Given the description of an element on the screen output the (x, y) to click on. 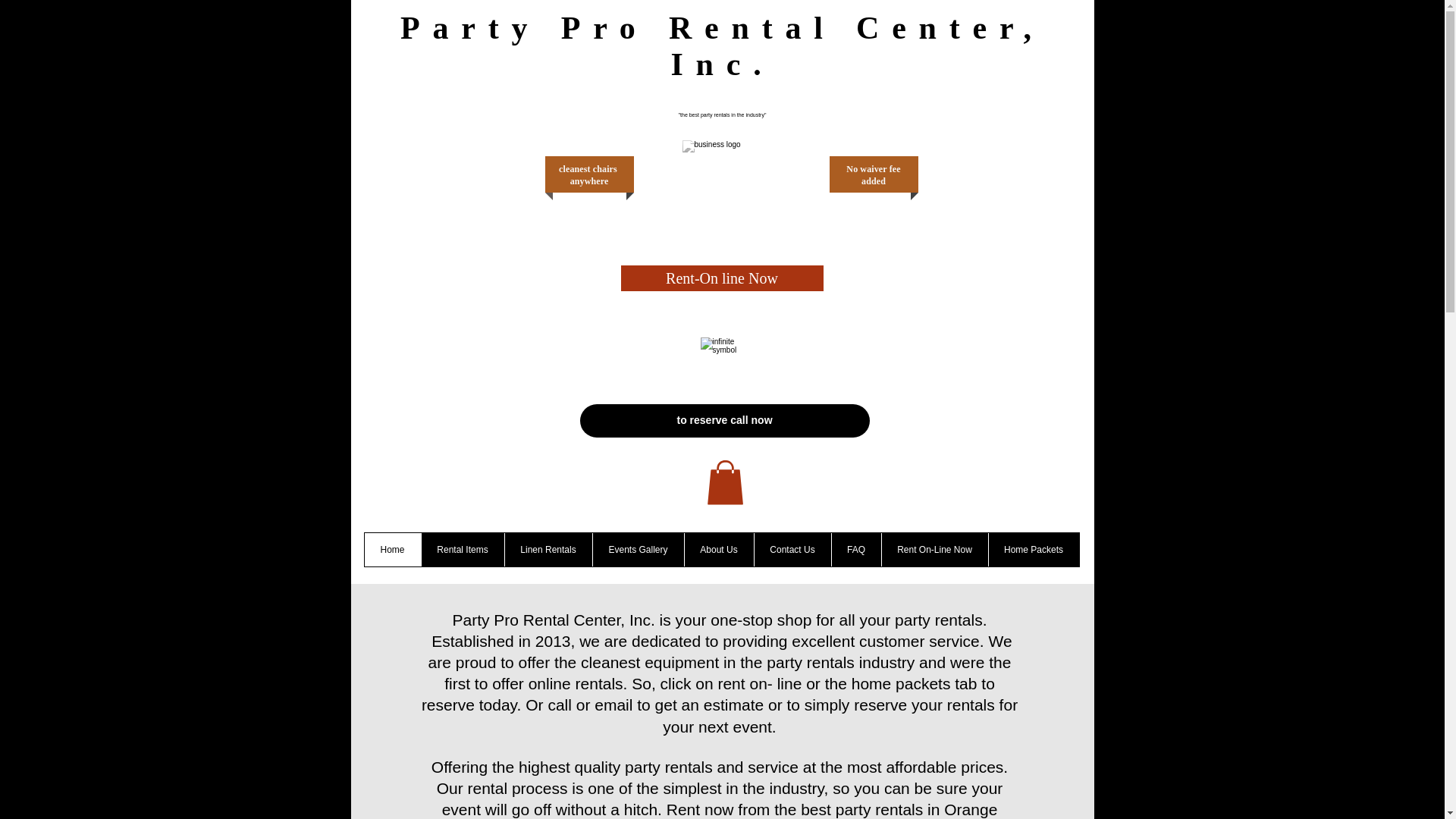
Home (392, 549)
Rent On-Line Now (934, 549)
About Us (719, 549)
Events Gallery (636, 549)
Home Packets (1032, 549)
to reserve call now (724, 420)
Linen Rentals (547, 549)
Rent-On line Now (721, 278)
pp logo.jpg (725, 178)
Rental Items (461, 549)
Contact Us (792, 549)
FAQ (855, 549)
